Given the description of an element on the screen output the (x, y) to click on. 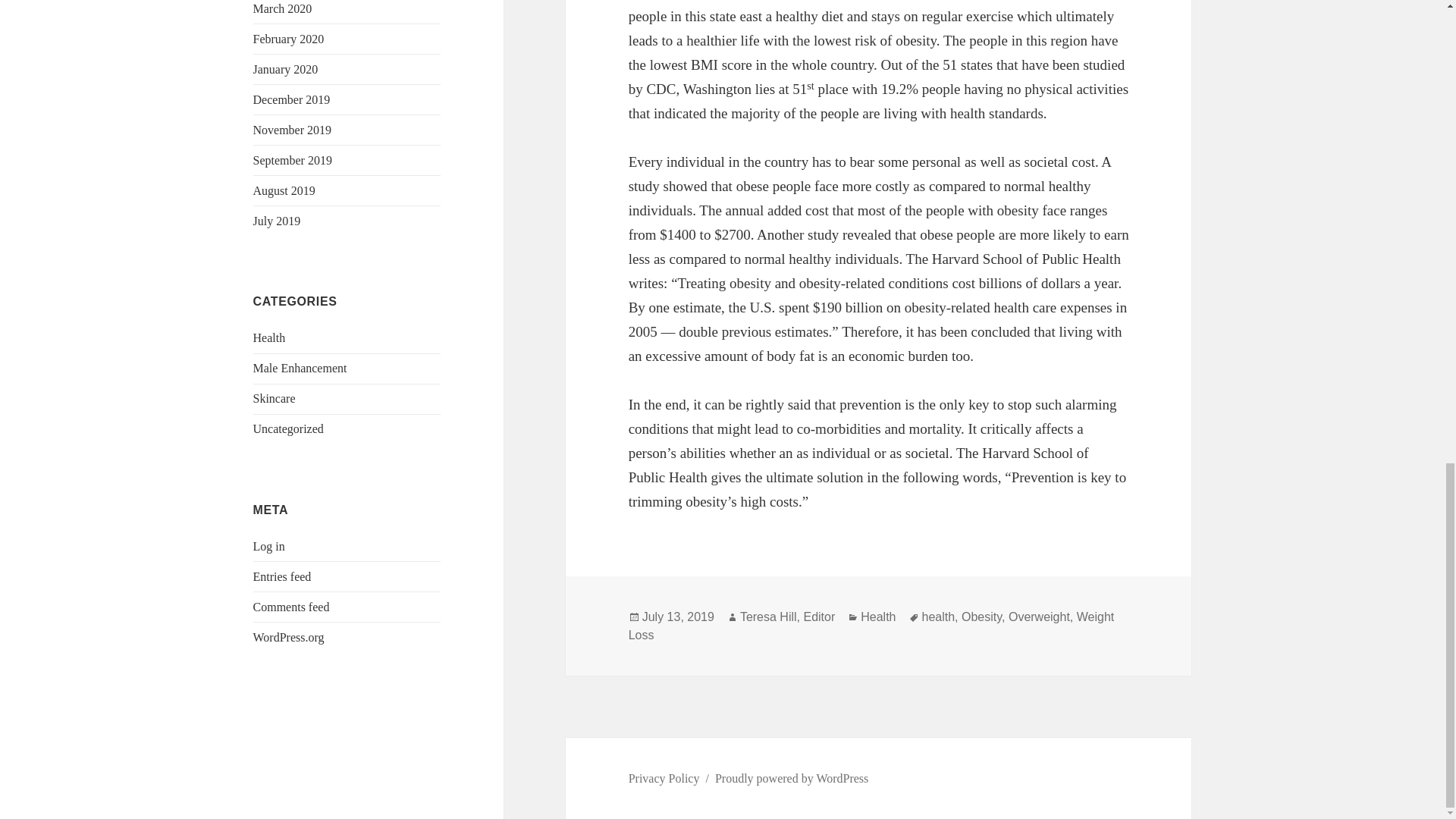
Comments feed (291, 606)
Skincare (274, 398)
Health (269, 337)
August 2019 (284, 190)
January 2020 (285, 69)
Log in (269, 545)
Uncategorized (288, 428)
July 2019 (277, 220)
December 2019 (291, 99)
February 2020 (288, 38)
November 2019 (292, 129)
March 2020 (283, 8)
Entries feed (282, 576)
Male Enhancement (300, 367)
WordPress.org (288, 636)
